Given the description of an element on the screen output the (x, y) to click on. 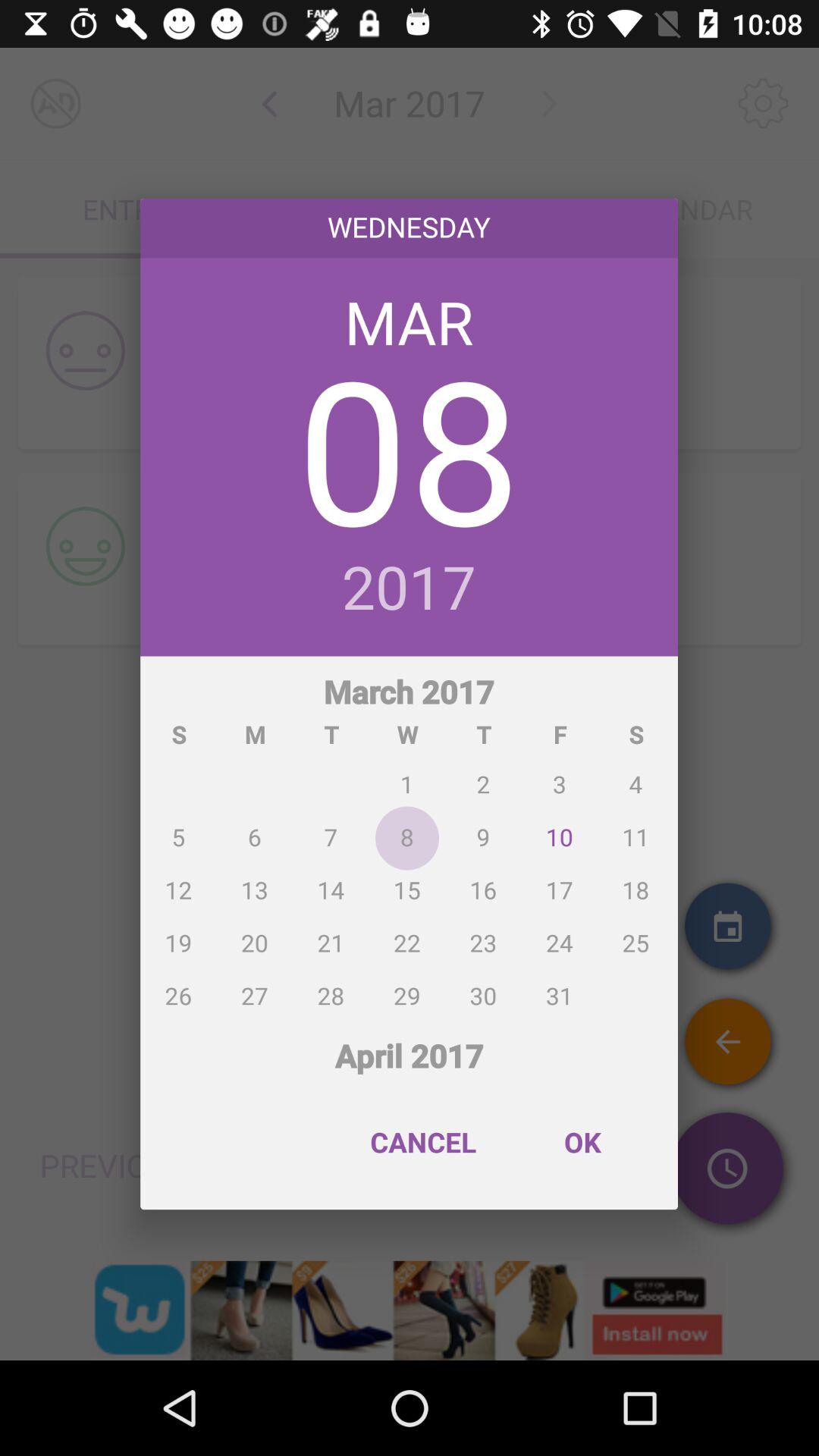
open icon at the bottom right corner (582, 1141)
